Given the description of an element on the screen output the (x, y) to click on. 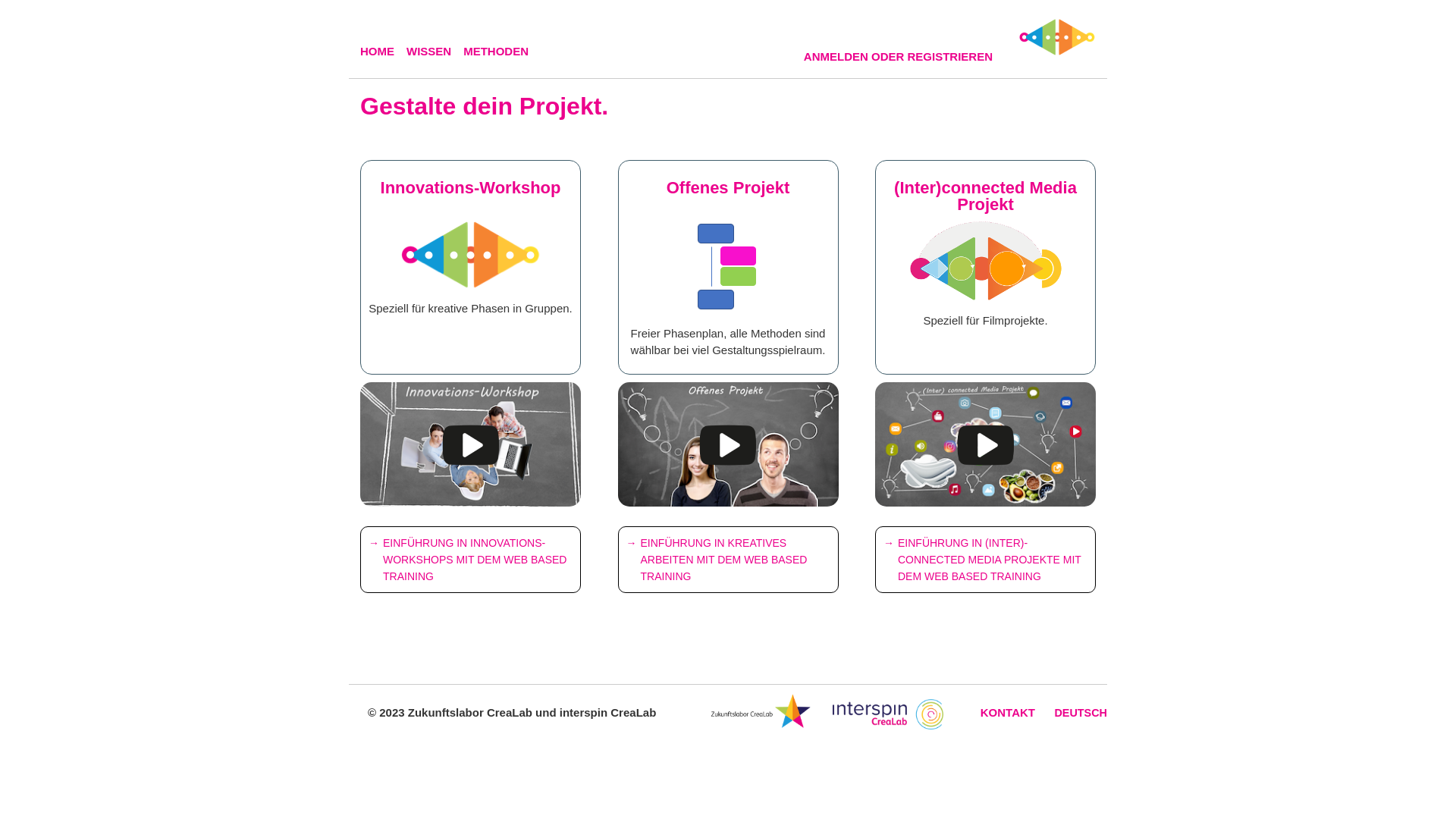
  Element type: text (470, 442)
  Element type: text (985, 442)
METHODEN Element type: text (501, 51)
ANMELDEN ODER REGISTRIEREN Element type: text (903, 56)
  Element type: text (727, 442)
KONTAKT Element type: text (1007, 712)
DEUTSCH Element type: text (1080, 712)
WISSEN Element type: text (434, 51)
HOME Element type: text (383, 51)
